Given the description of an element on the screen output the (x, y) to click on. 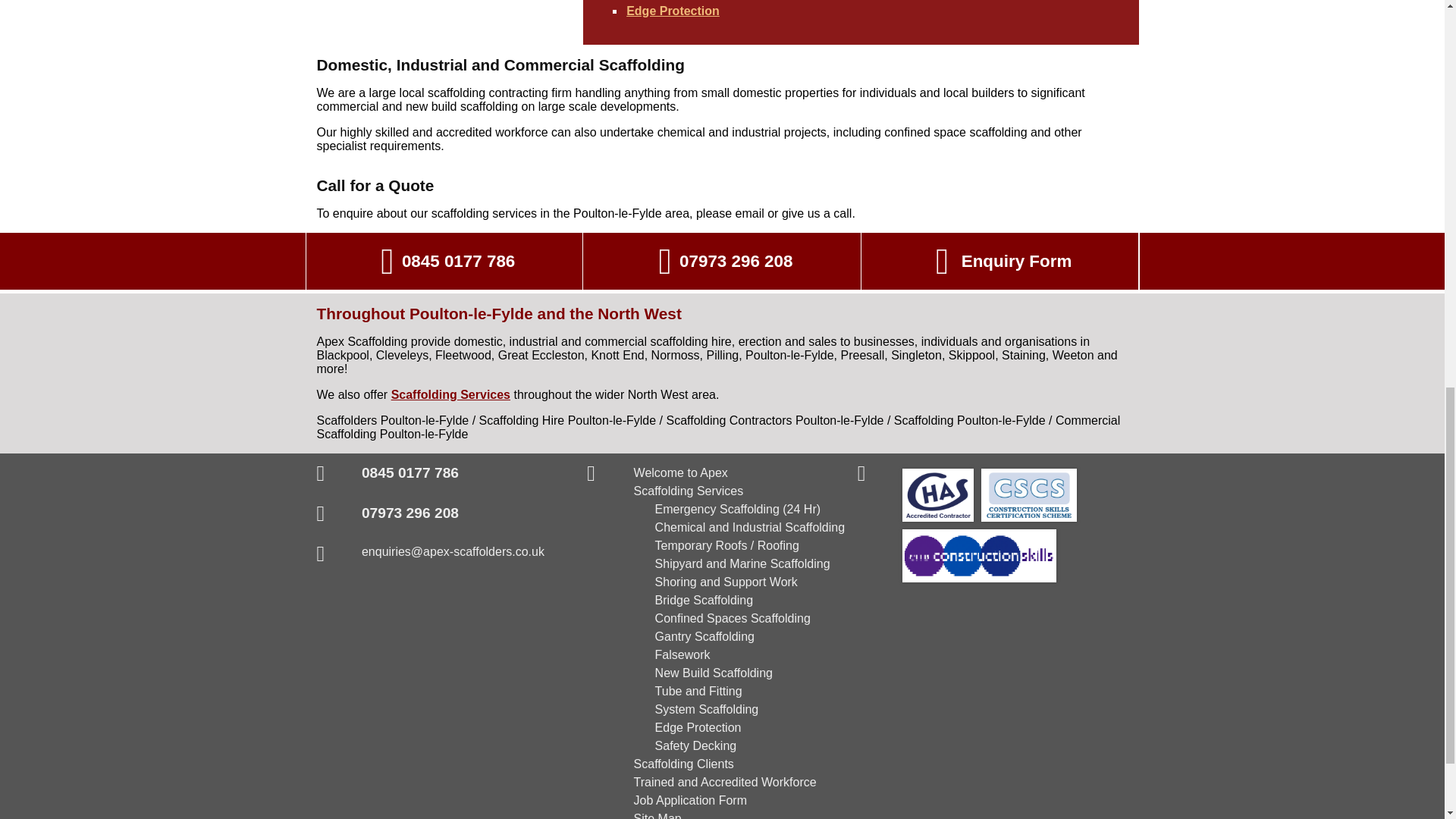
Telephone No: 0845 0177 786 (444, 260)
Mobile No: 07973 296 208 (721, 260)
Enquiry Form (999, 260)
Chemical and Industrial Scaffolding (750, 526)
07973 296 208 (721, 260)
07973 296 208 (409, 512)
0845 0177 786 (409, 472)
Scaffolding Services (688, 490)
Chemical and Industrial Scaffolding (750, 526)
Mobile No: 07973 296 208 (409, 512)
